Given the description of an element on the screen output the (x, y) to click on. 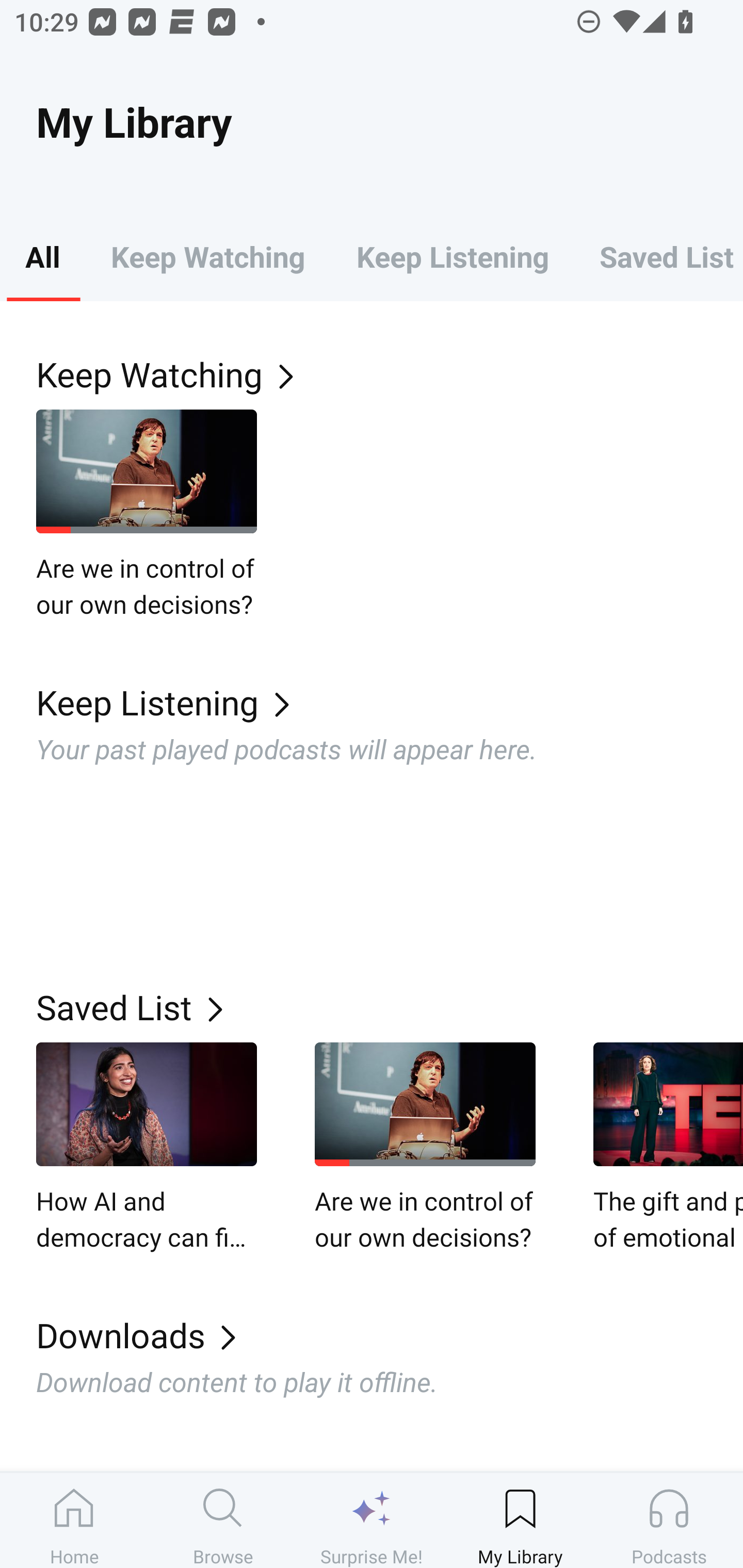
All (42, 256)
Keep Watching (207, 256)
Keep Listening (452, 256)
Saved List (658, 256)
Keep Watching (389, 373)
Are we in control of our own decisions? (146, 514)
Keep Listening (389, 702)
Saved List (389, 1007)
How AI and democracy can fix each other (146, 1148)
Are we in control of our own decisions? (425, 1148)
The gift and power of emotional courage (668, 1148)
Downloads (389, 1334)
Home (74, 1520)
Browse (222, 1520)
Surprise Me! (371, 1520)
My Library (519, 1520)
Podcasts (668, 1520)
